Given the description of an element on the screen output the (x, y) to click on. 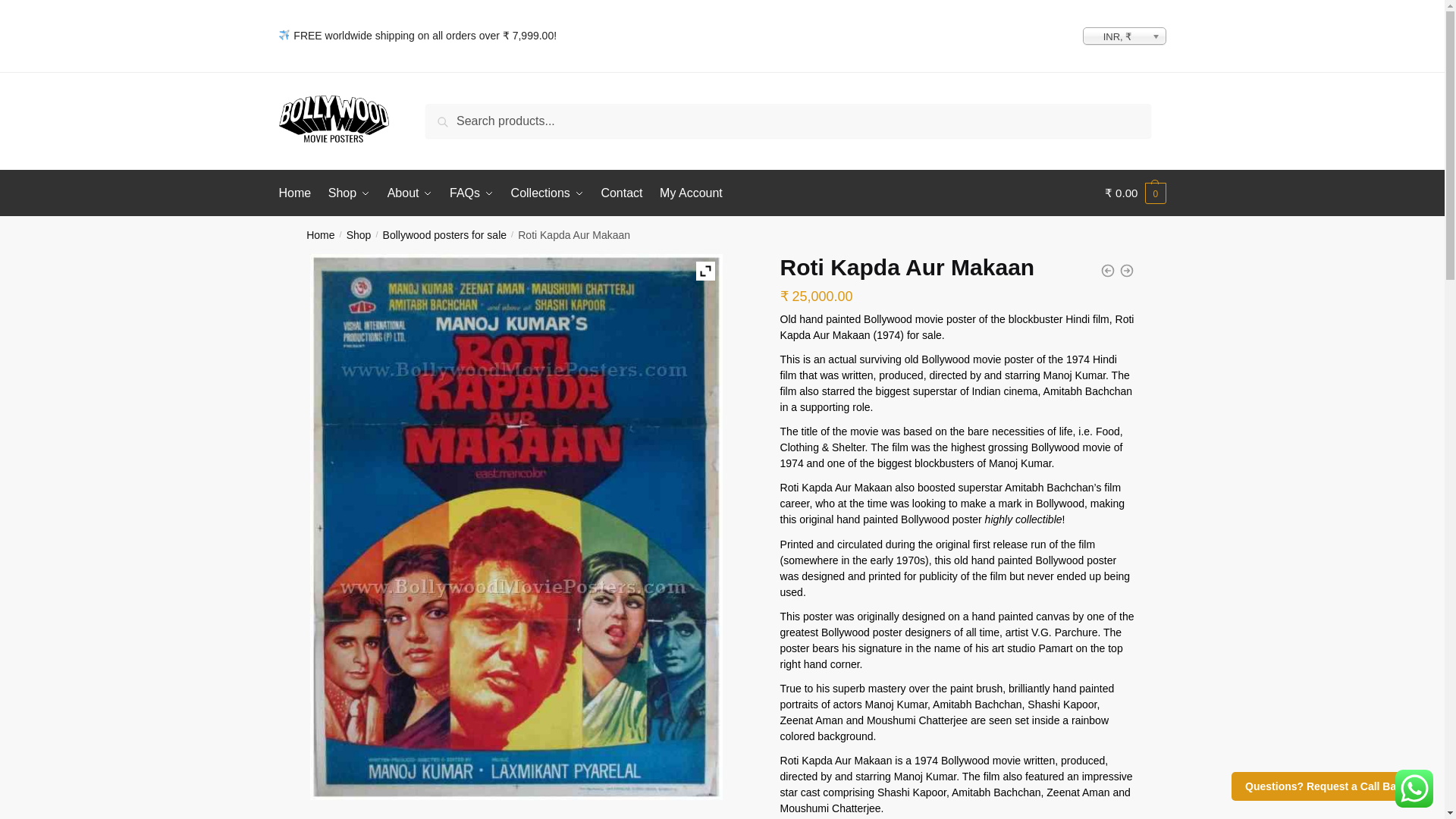
Collections (547, 193)
FAQs (471, 193)
Shop (349, 193)
Search (449, 114)
View your shopping cart (1135, 193)
About (409, 193)
